Given the description of an element on the screen output the (x, y) to click on. 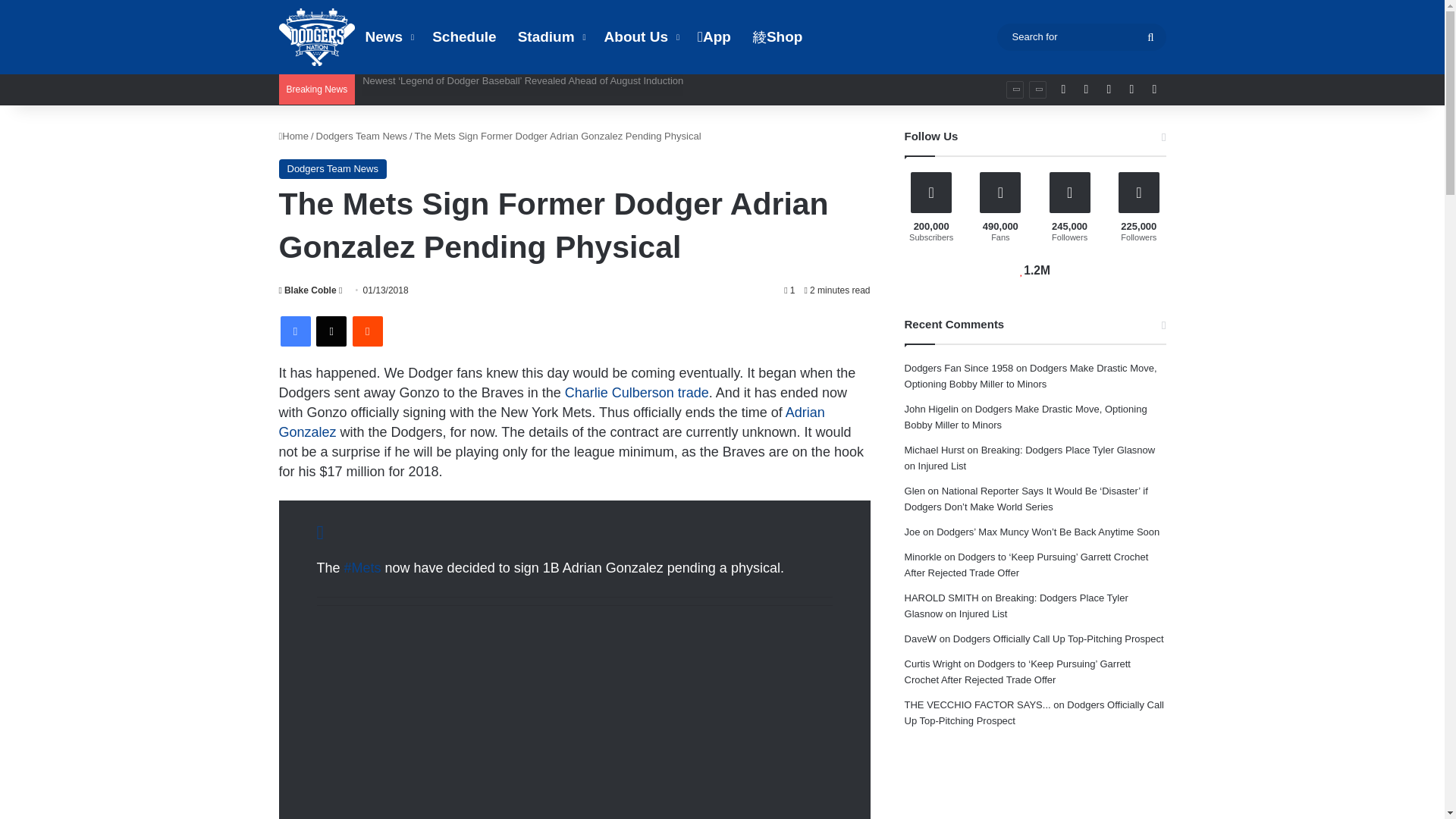
Dodgers Team News (361, 135)
Reddit (367, 331)
X (330, 331)
Stadium (550, 37)
Adrian Gonzalez (552, 421)
Shop (777, 37)
Blake Coble (307, 290)
Reddit (367, 331)
Facebook (296, 331)
Schedule (464, 37)
News (388, 37)
X (330, 331)
Dodgers Team News (333, 168)
Home (293, 135)
About Us (640, 37)
